Given the description of an element on the screen output the (x, y) to click on. 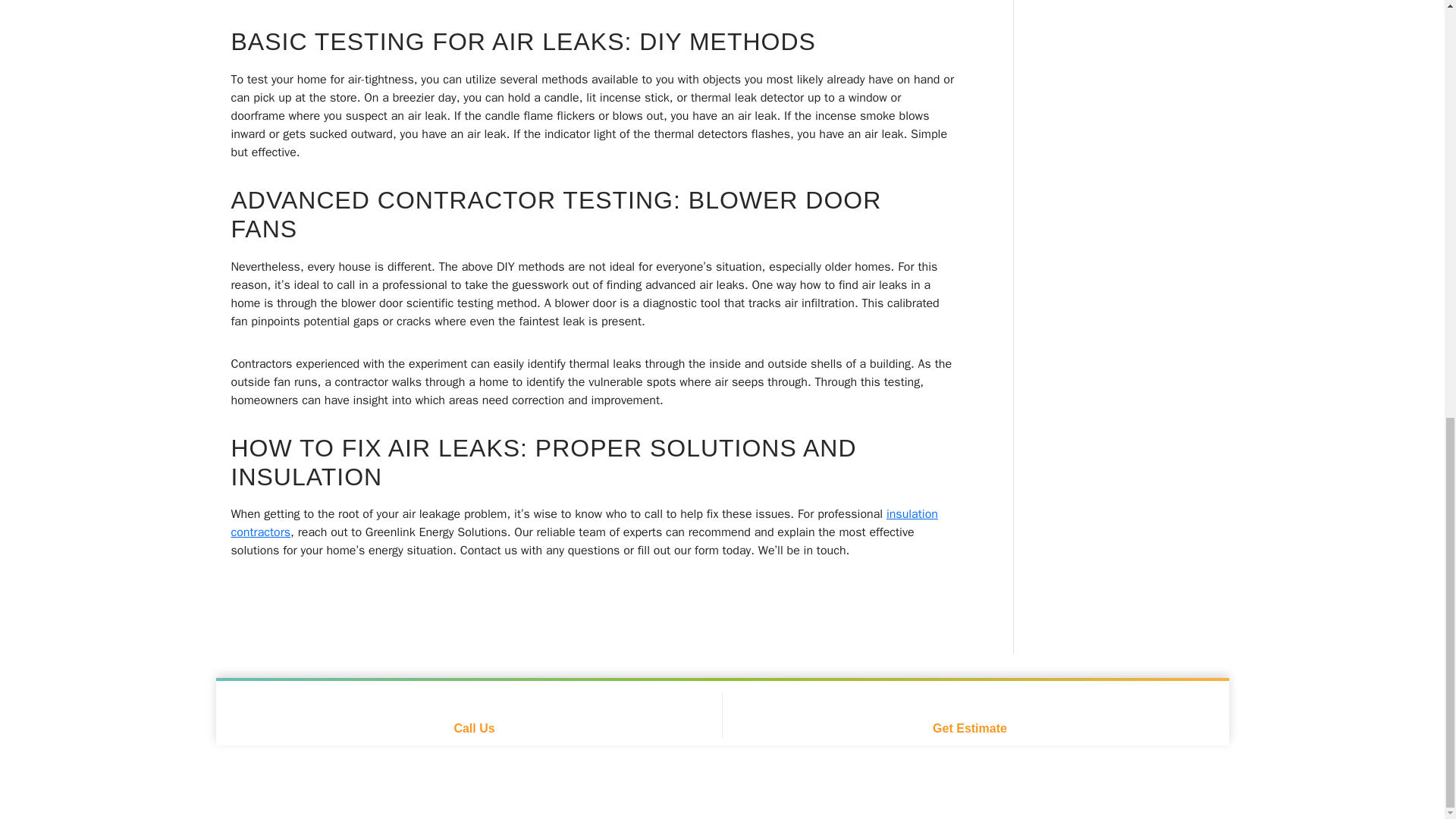
Get Estimate (969, 714)
insulation contractors (583, 522)
Call Us (474, 714)
